Given the description of an element on the screen output the (x, y) to click on. 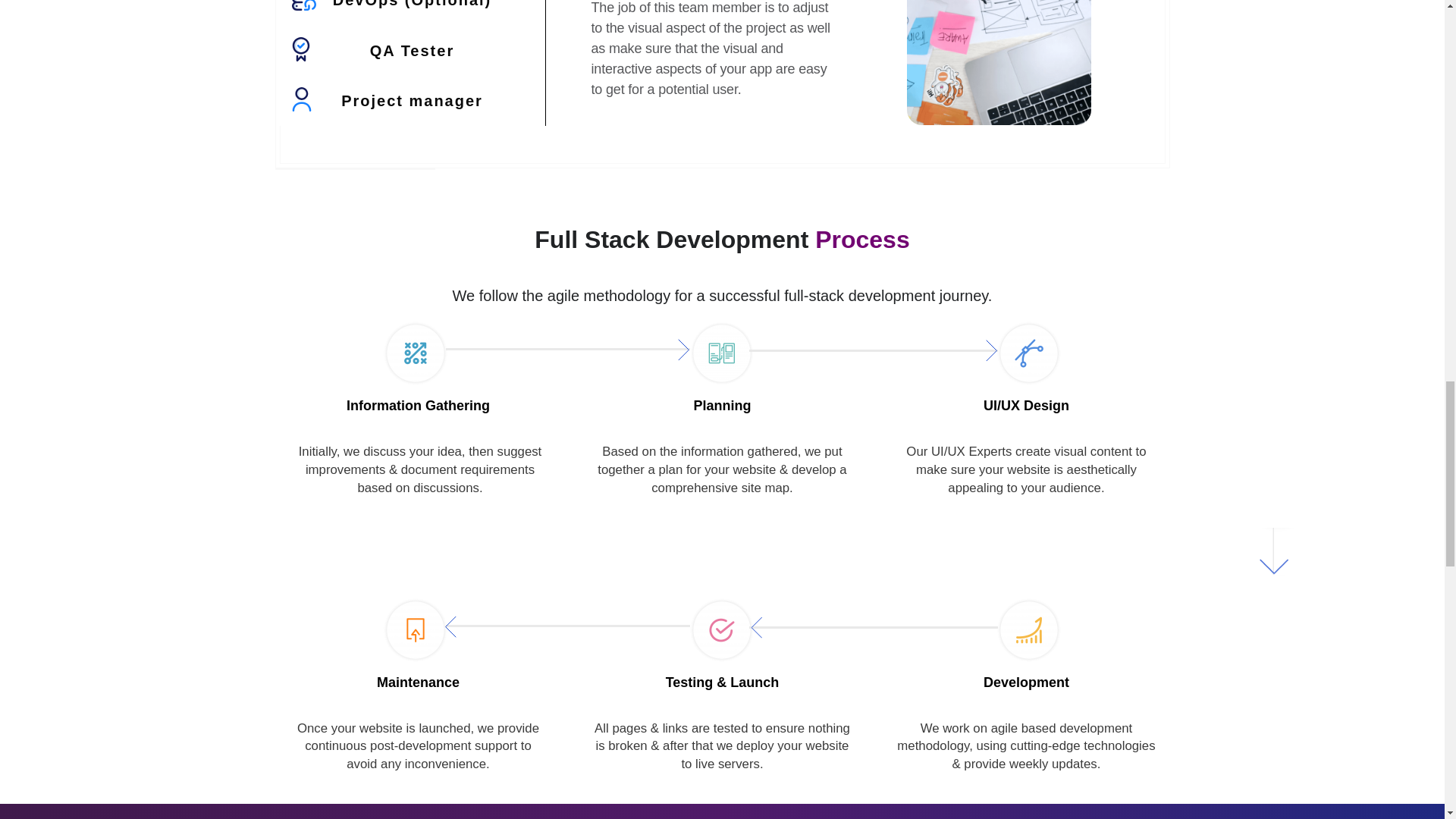
Project manager (411, 101)
QA Tester (411, 50)
